Given the description of an element on the screen output the (x, y) to click on. 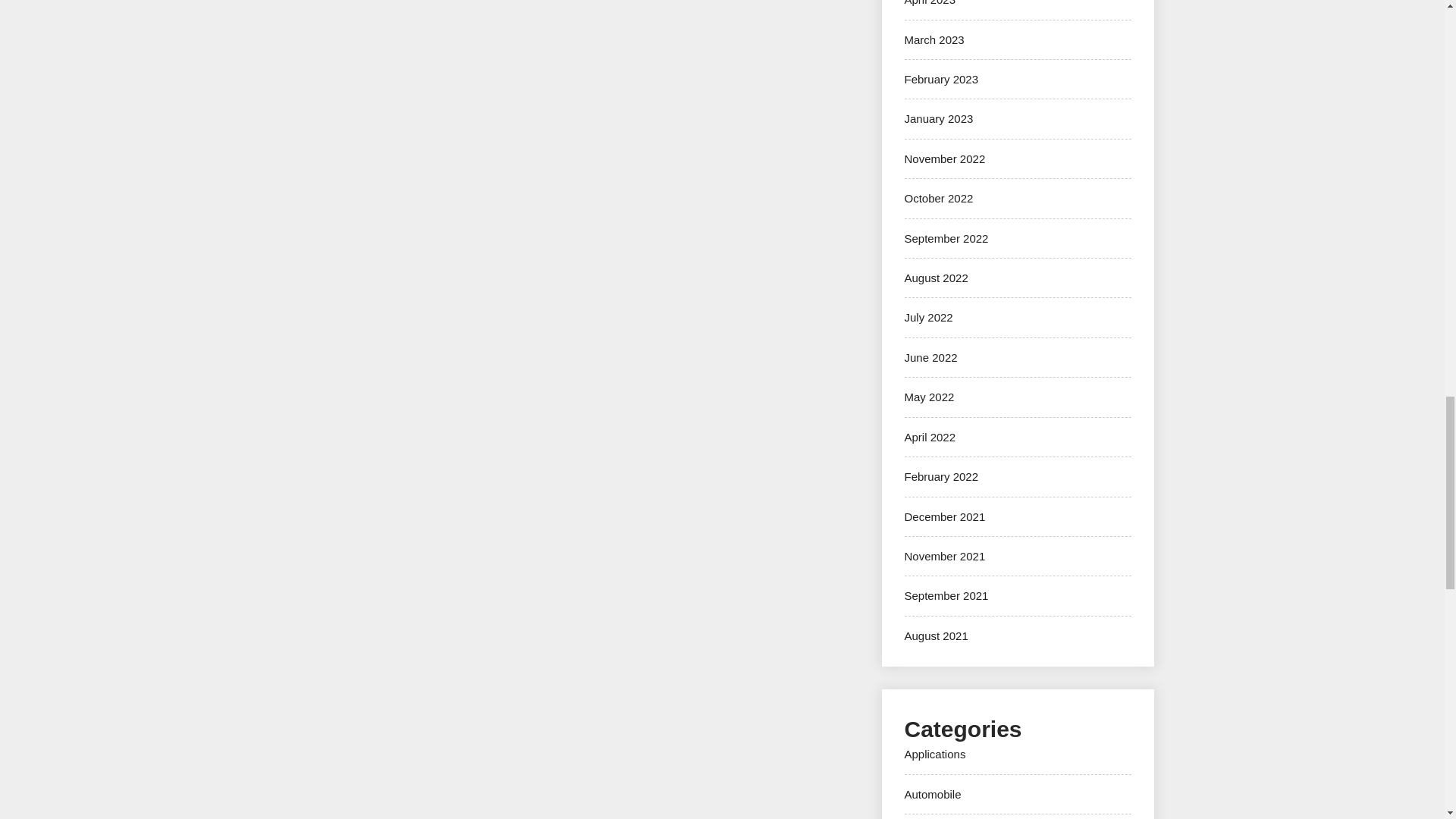
July 2022 (928, 317)
September 2022 (946, 237)
January 2023 (938, 118)
November 2022 (944, 158)
April 2023 (929, 2)
October 2022 (938, 197)
March 2023 (933, 39)
February 2023 (941, 78)
August 2022 (936, 277)
June 2022 (930, 357)
